Given the description of an element on the screen output the (x, y) to click on. 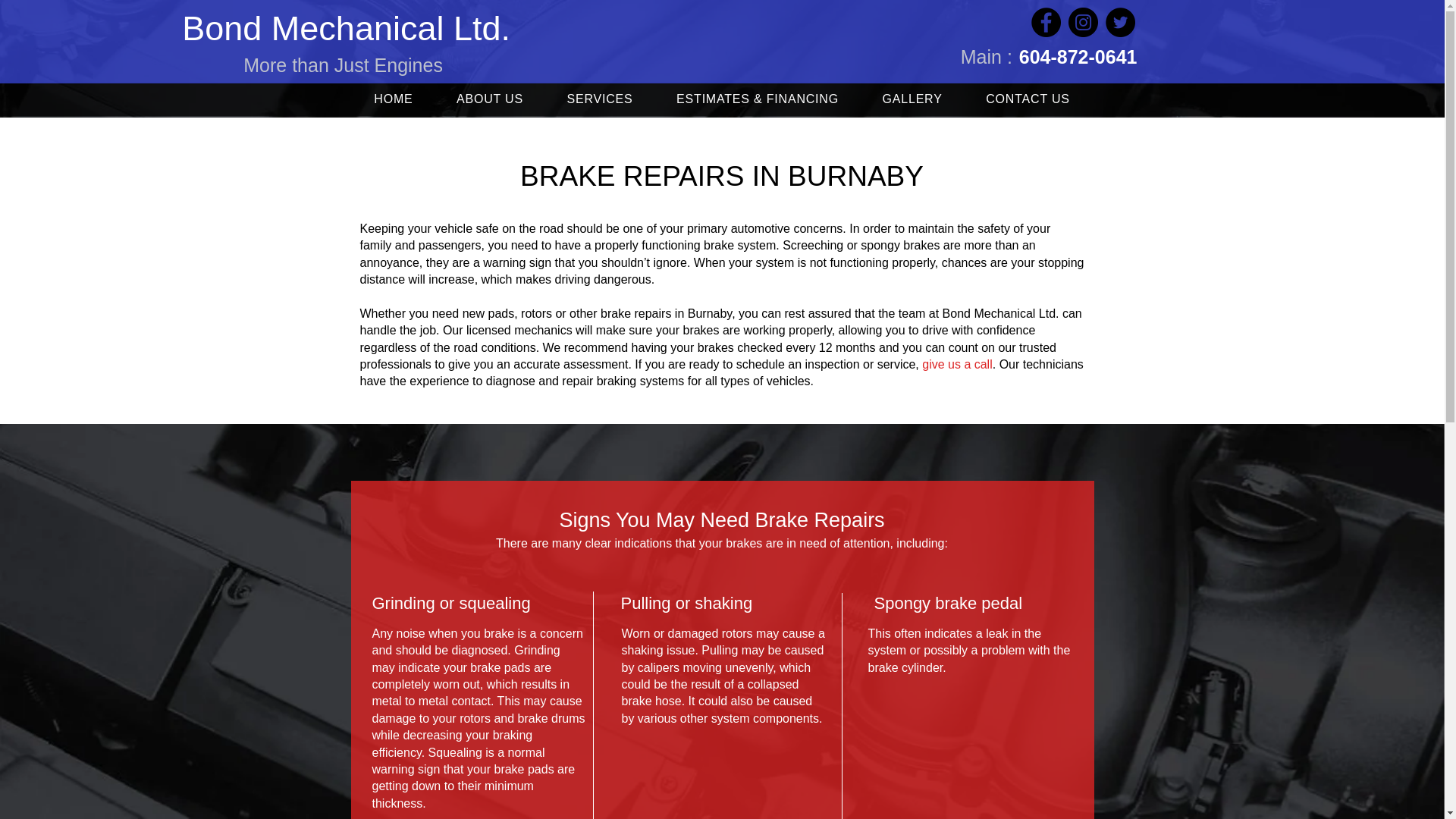
CONTACT US (1026, 99)
604-872-0641 (1078, 56)
Bond Mechanical Ltd. (346, 28)
HOME (392, 99)
ABOUT US (489, 99)
GALLERY (911, 99)
SERVICES (600, 99)
give us a call. (958, 364)
